Given the description of an element on the screen output the (x, y) to click on. 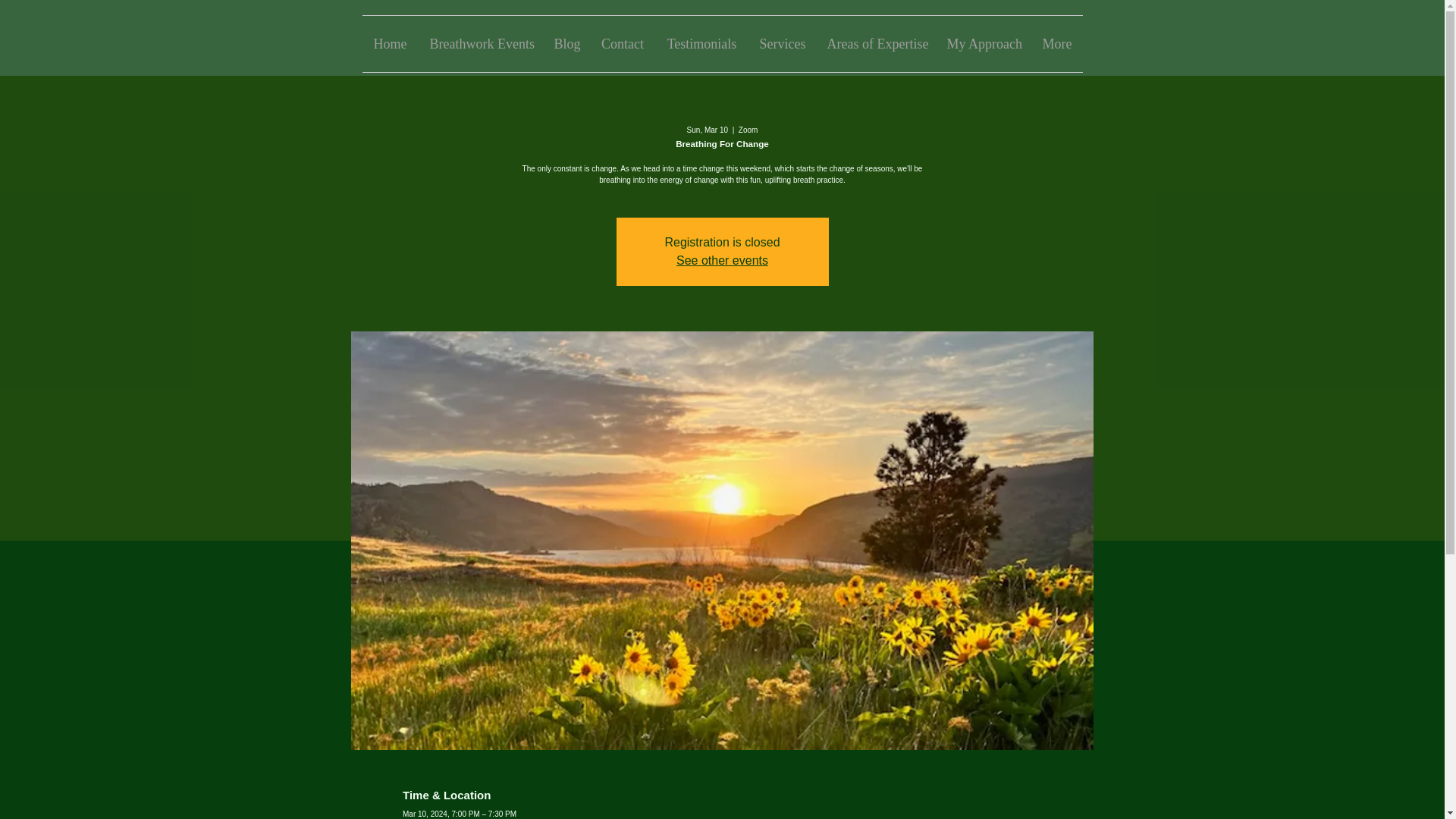
Home (390, 43)
Services (781, 43)
See other events (722, 259)
Areas of Expertise (875, 43)
Testimonials (701, 43)
Breathwork Events (481, 43)
My Approach (983, 43)
Contact (622, 43)
